Given the description of an element on the screen output the (x, y) to click on. 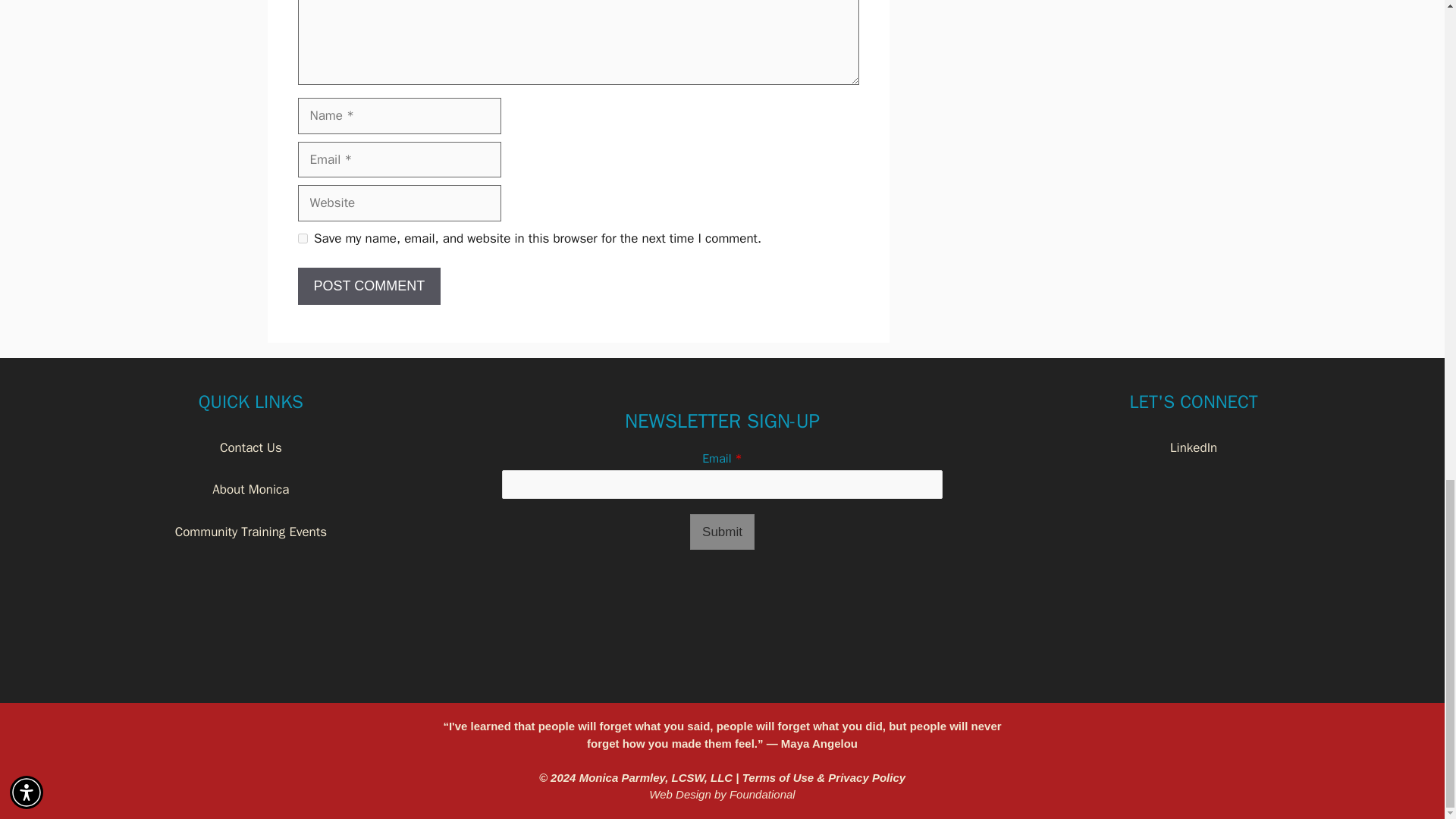
Post Comment (369, 285)
yes (302, 238)
Us (272, 447)
Submit (722, 532)
Contact (241, 447)
Community Training Events (250, 531)
Post Comment (369, 285)
About Monica (250, 489)
